Given the description of an element on the screen output the (x, y) to click on. 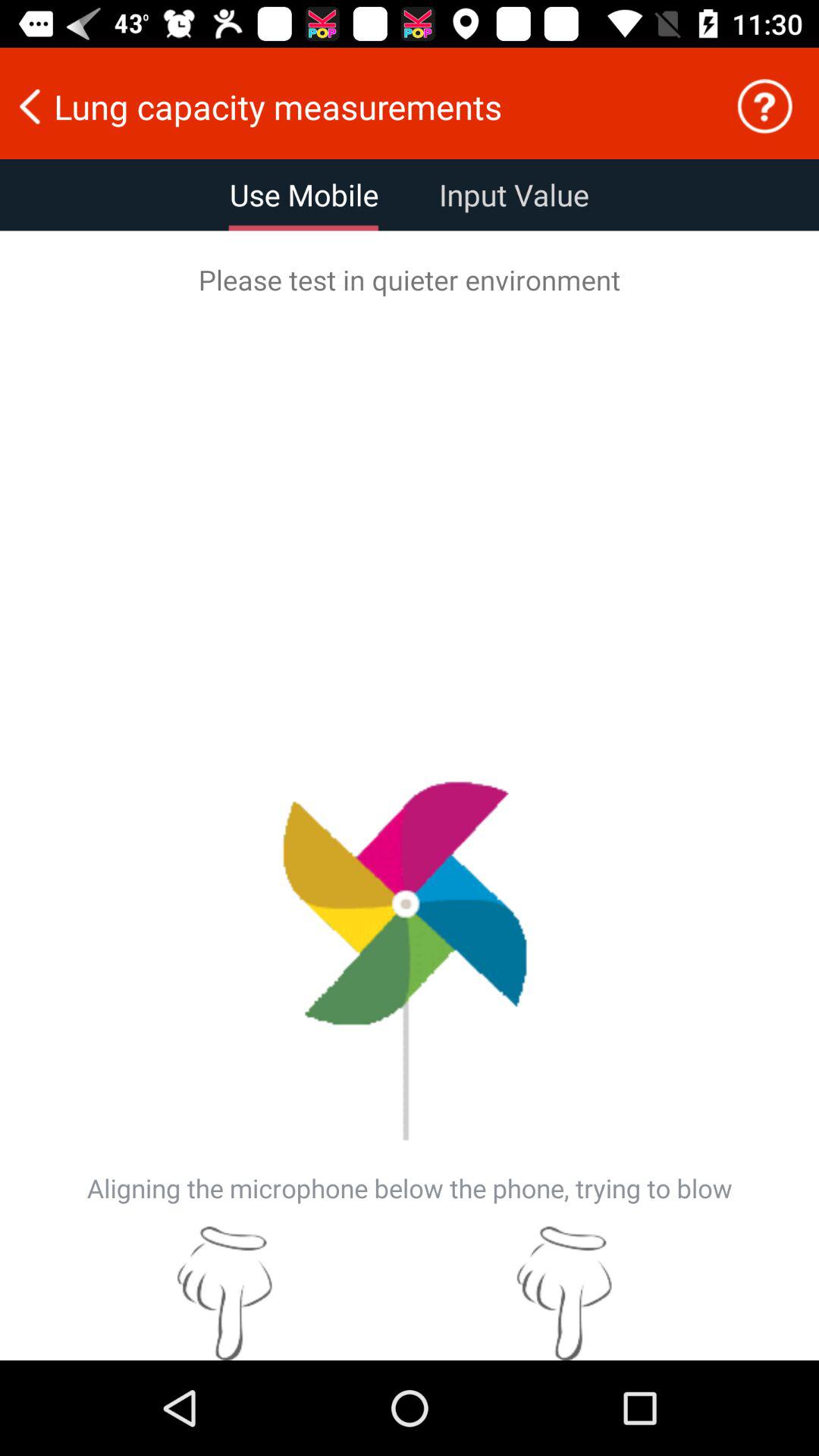
launch use mobile item (303, 194)
